Given the description of an element on the screen output the (x, y) to click on. 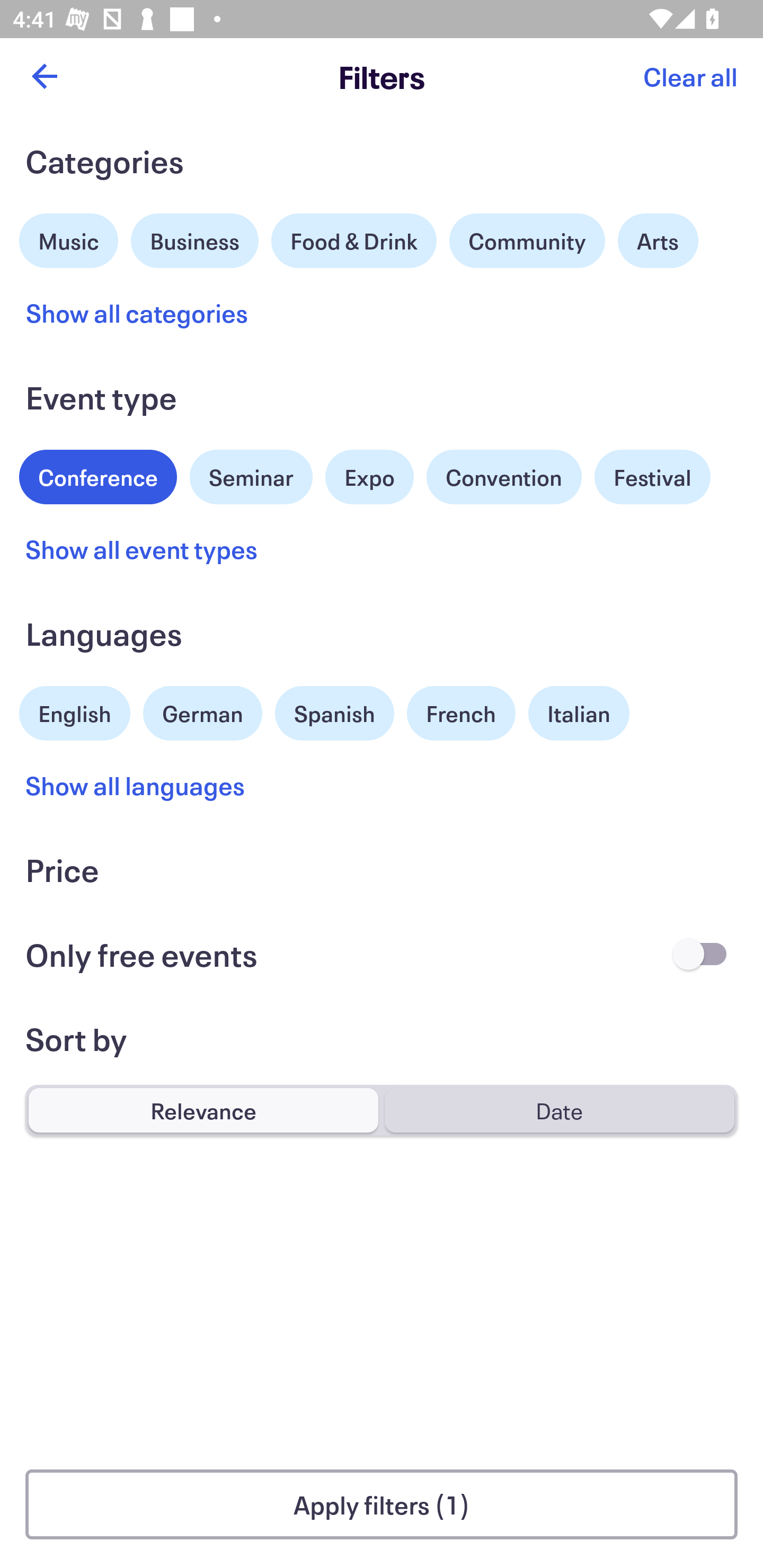
Back button (44, 75)
Clear all (690, 75)
Music (68, 238)
Business (194, 238)
Food & Drink (353, 240)
Community (527, 240)
Arts (658, 240)
Show all categories (136, 312)
Conference (98, 475)
Seminar (250, 477)
Expo (369, 477)
Convention (503, 477)
Festival (652, 477)
Show all event types (141, 548)
English (74, 710)
German (202, 710)
Spanish (334, 713)
French (460, 713)
Italian (578, 713)
Show all languages (135, 784)
Relevance (203, 1109)
Date (559, 1109)
Apply filters (1) (381, 1504)
